Given the description of an element on the screen output the (x, y) to click on. 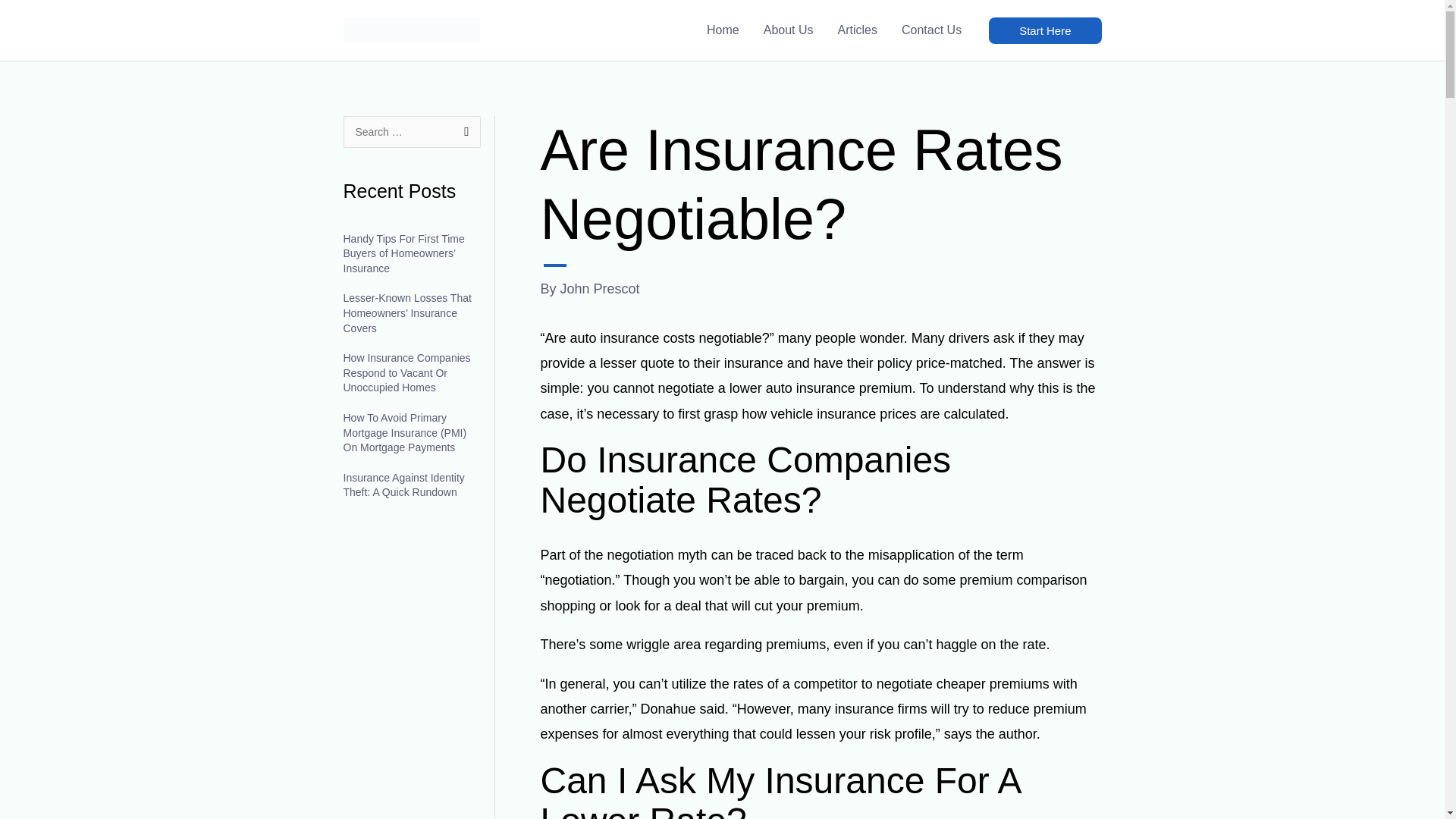
Start Here (1044, 29)
Articles (857, 30)
Home (722, 30)
John Prescot (600, 288)
Insurance Against Identity Theft: A Quick Rundown (403, 484)
Search (462, 132)
Search (462, 132)
Contact Us (931, 30)
View all posts by John Prescot (600, 288)
Search (462, 132)
